Given the description of an element on the screen output the (x, y) to click on. 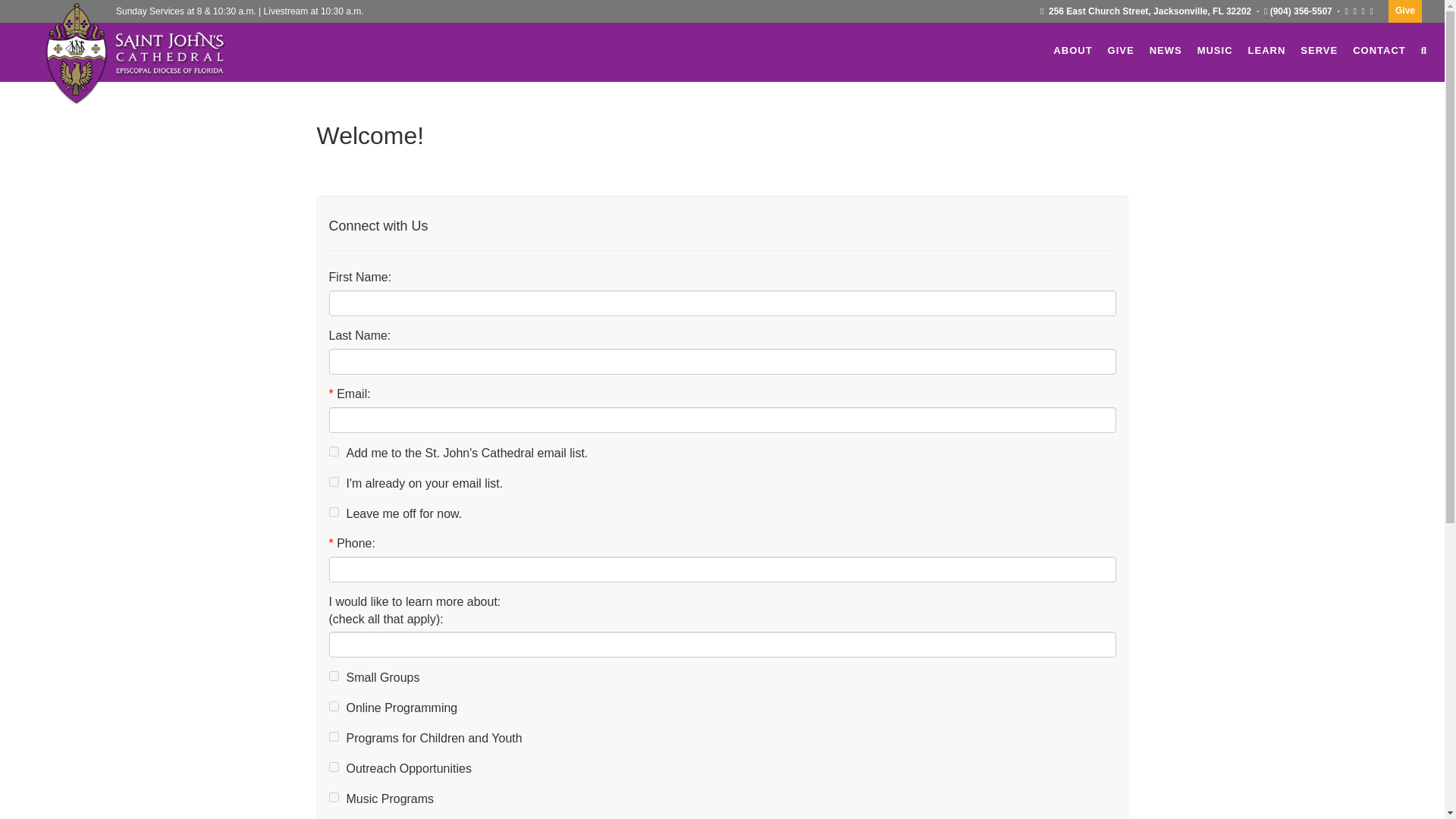
GIVE (1121, 50)
Give (1405, 11)
on (334, 767)
St. John's Cathedral Jacksonville (161, 54)
on (334, 706)
MUSIC (1214, 50)
NEWS (1166, 50)
on (334, 675)
on (334, 511)
on (334, 737)
on (334, 481)
on (334, 451)
ABOUT (1072, 50)
on (334, 797)
LEARN (1266, 50)
